Given the description of an element on the screen output the (x, y) to click on. 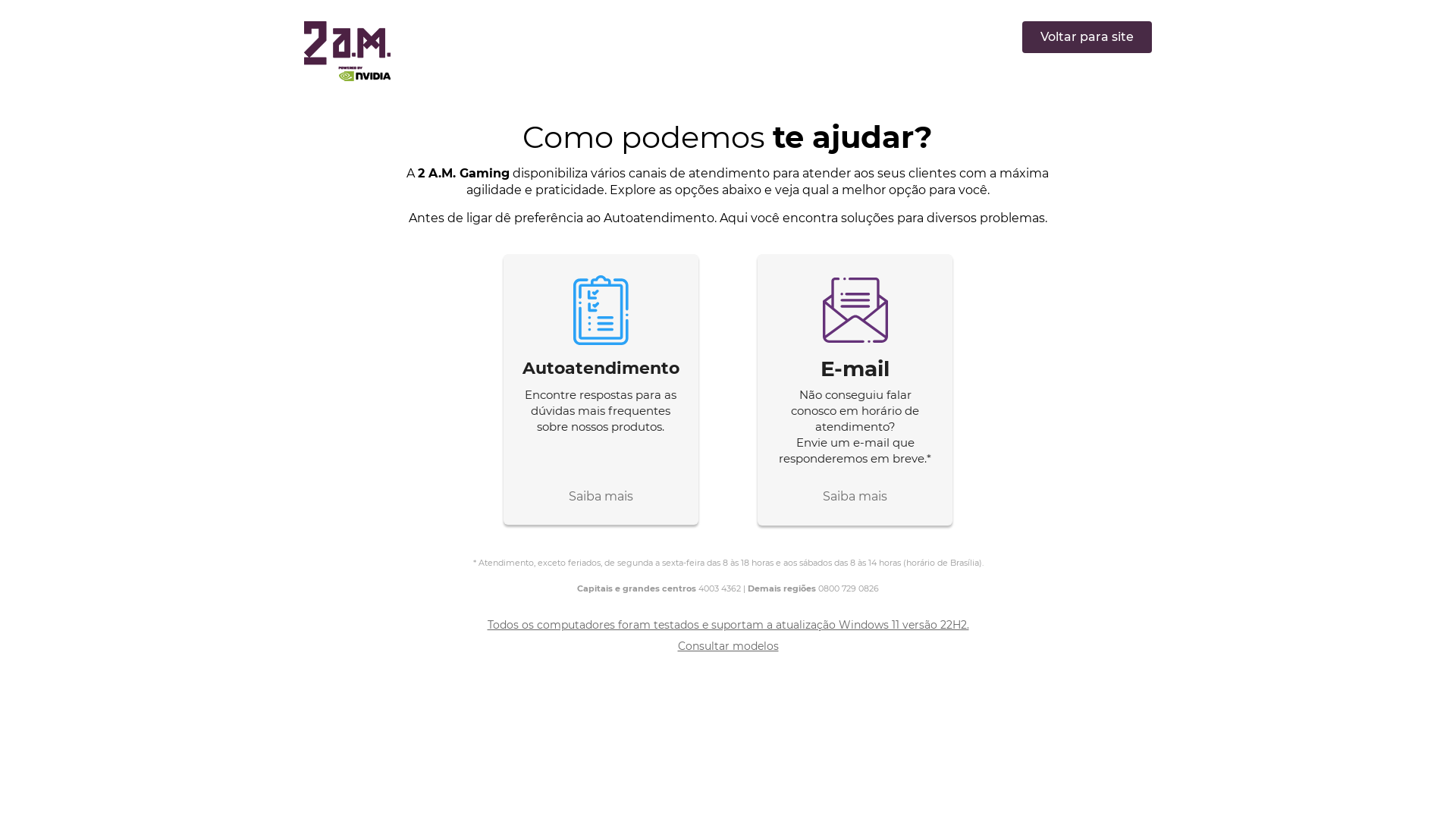
Voltar para site Element type: text (1086, 37)
Consultar modelos Element type: text (727, 645)
